Given the description of an element on the screen output the (x, y) to click on. 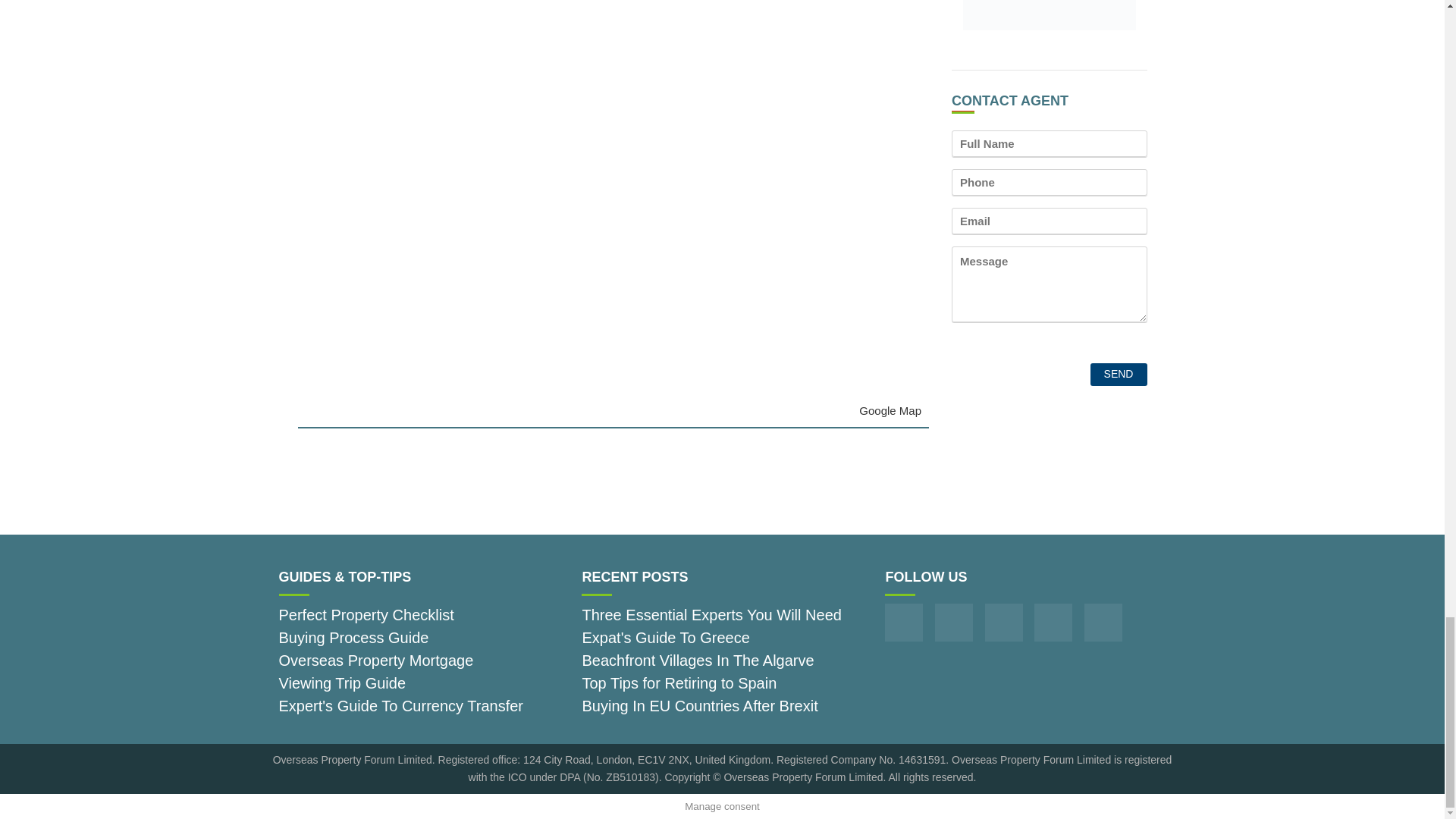
Linkedin (1103, 622)
Pinterest (1004, 622)
Send (1118, 374)
Twitter (1052, 622)
Instagram (953, 622)
Google Map (889, 409)
Facebook (904, 622)
